Given the description of an element on the screen output the (x, y) to click on. 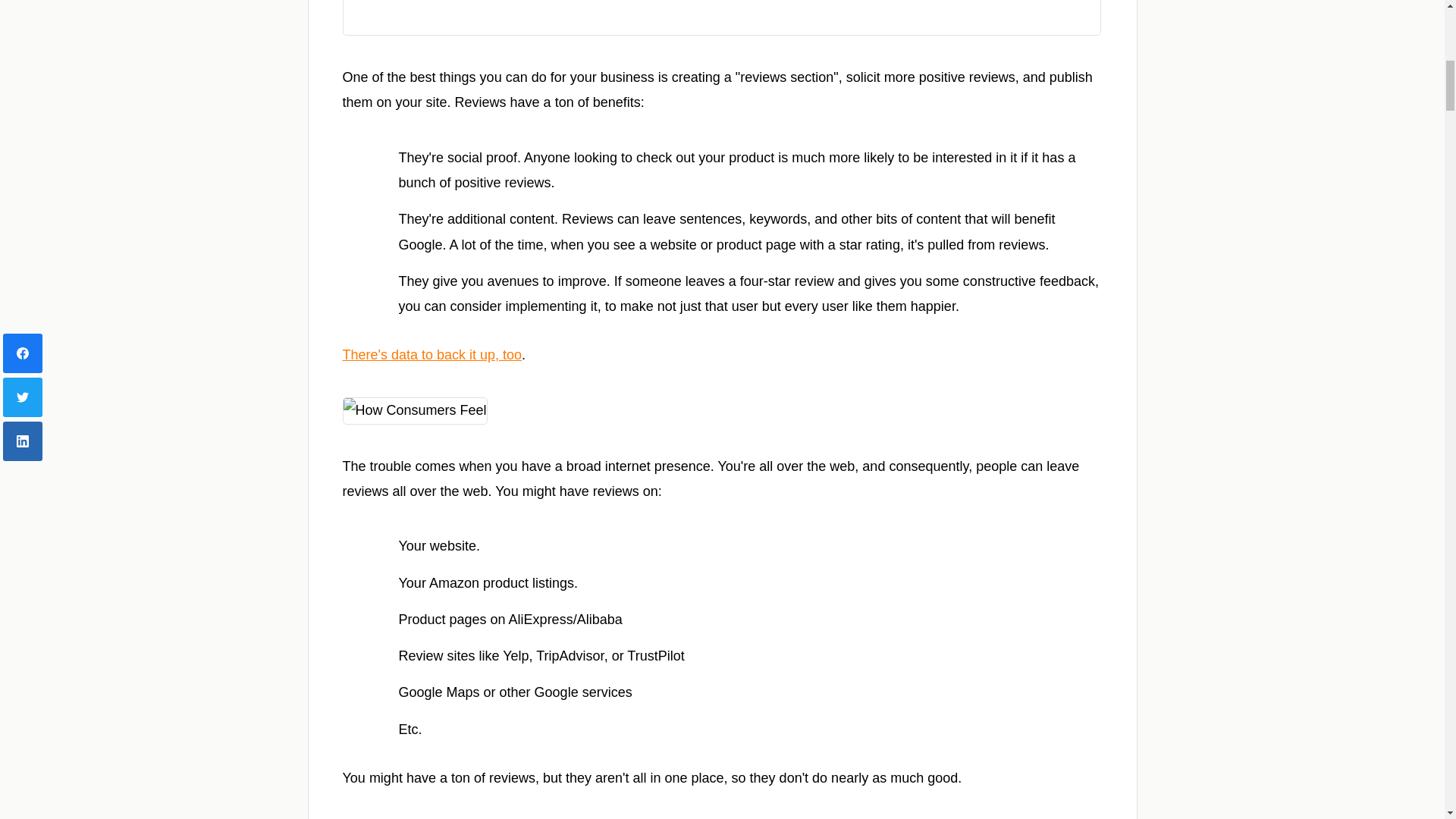
There's data to back it up, too (432, 354)
